Given the description of an element on the screen output the (x, y) to click on. 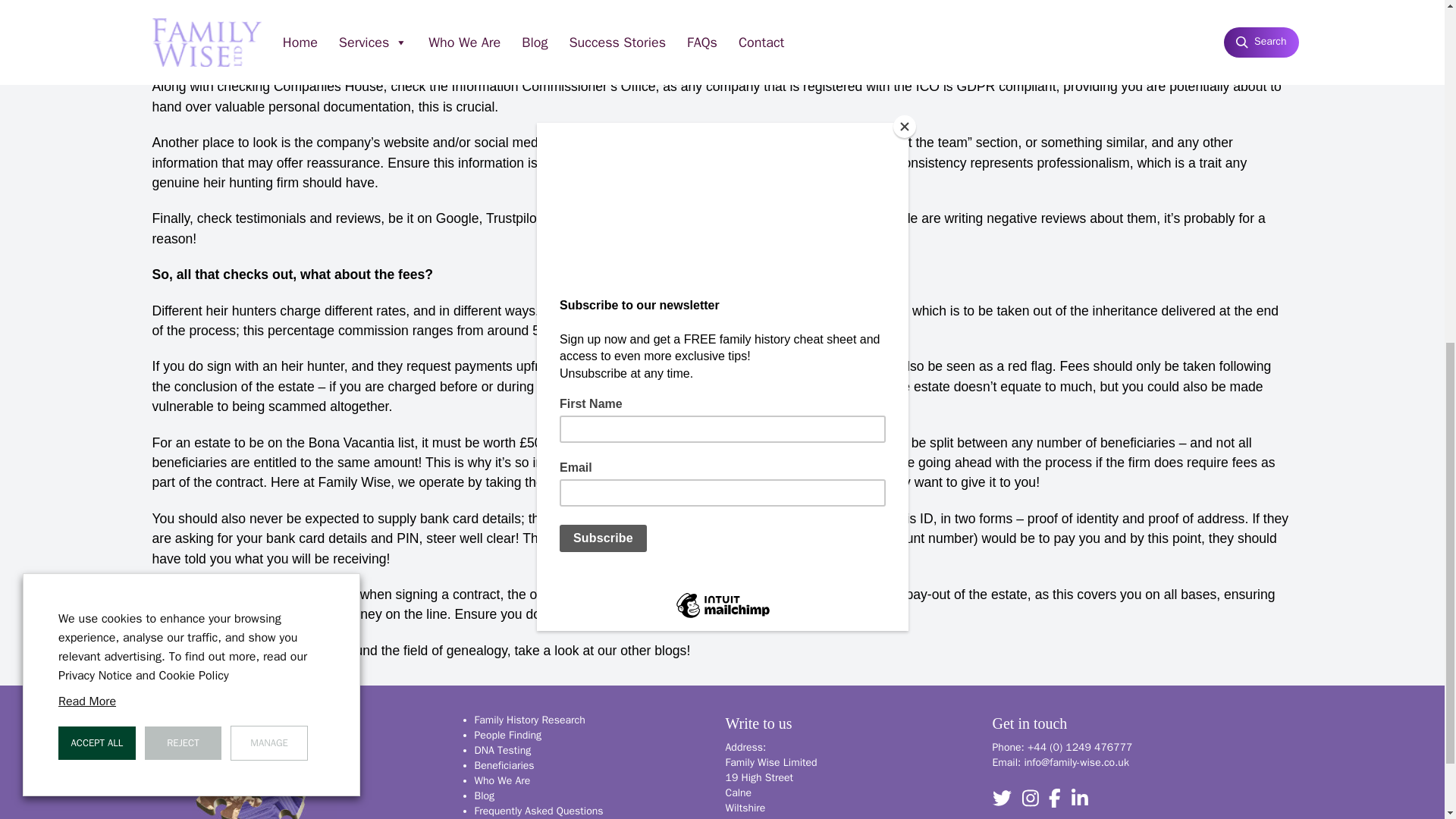
Frequently Asked Questions (539, 810)
Blog (484, 795)
MANAGE (268, 97)
Beneficiaries (504, 765)
Read More (87, 55)
DNA Testing (502, 749)
blogs (669, 650)
ACCEPT ALL (96, 97)
REJECT (183, 97)
People Finding (507, 735)
Companies House (515, 30)
Who We Are (502, 780)
Family History Research (529, 719)
